Given the description of an element on the screen output the (x, y) to click on. 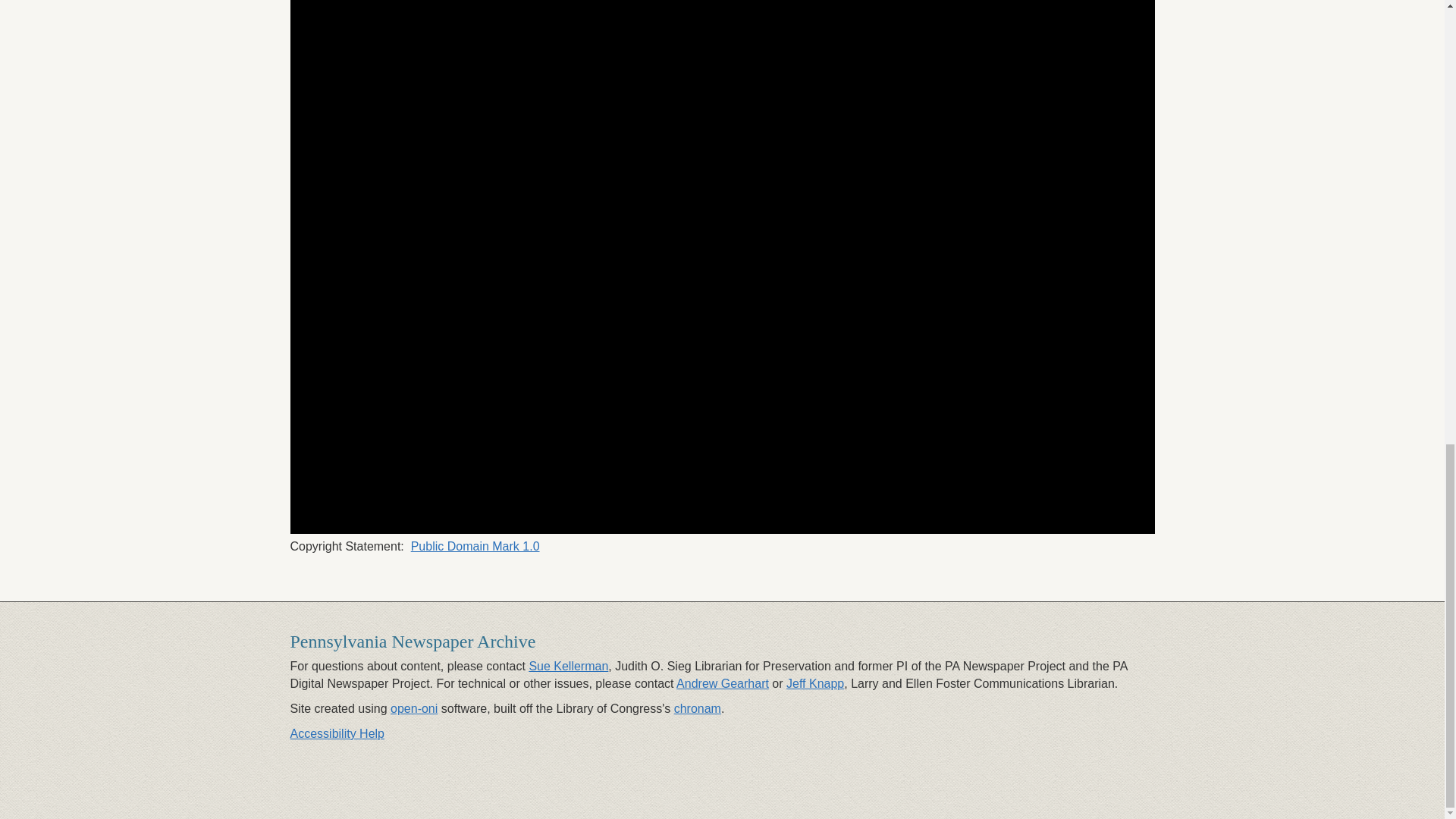
Sue Kellerman (568, 666)
Jeff Knapp (815, 683)
open-oni (414, 707)
chronam (697, 707)
Public Domain Mark 1.0 (475, 545)
Accessibility Help (336, 733)
Andrew Gearhart (722, 683)
